Given the description of an element on the screen output the (x, y) to click on. 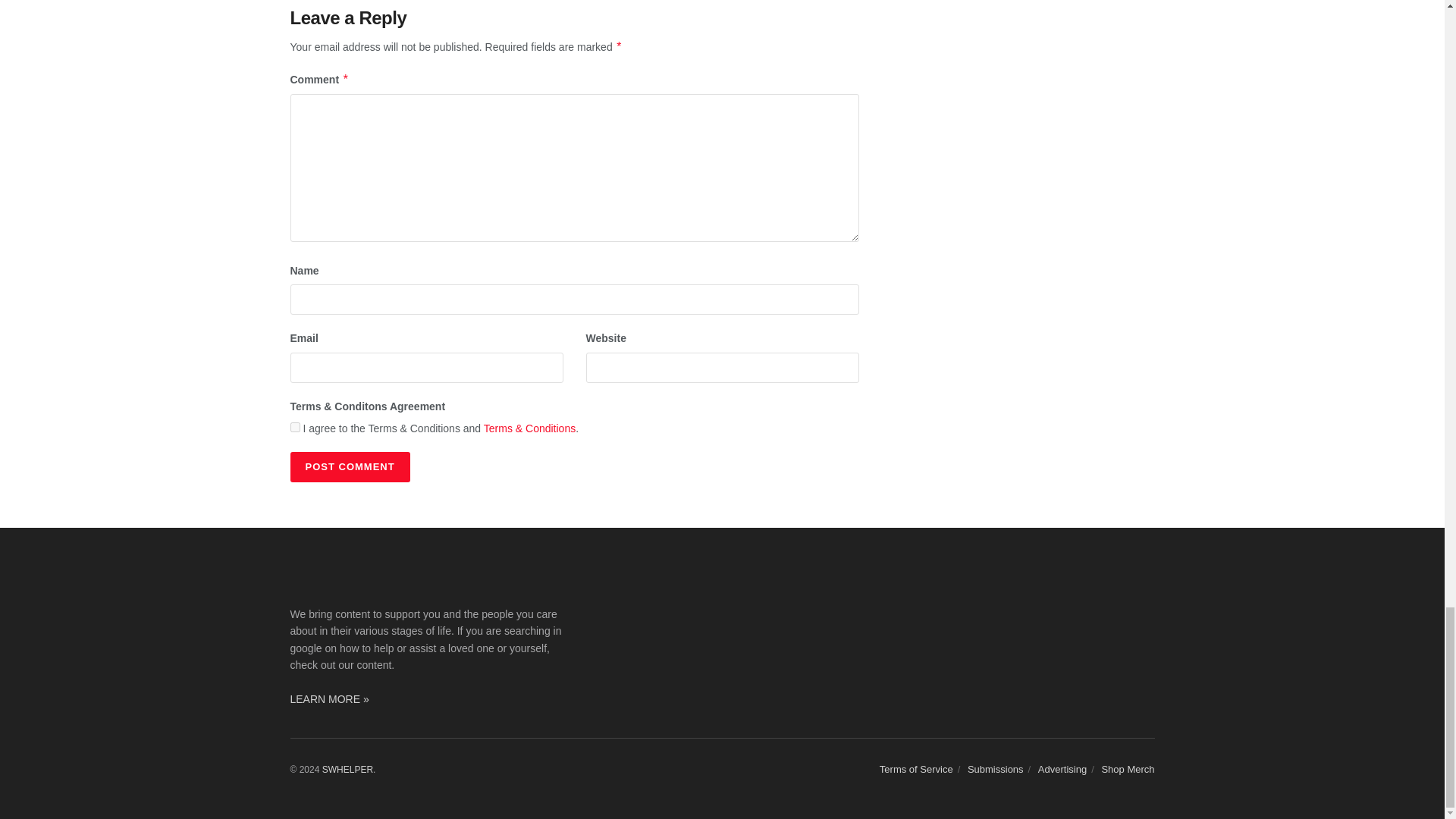
Post Comment (349, 467)
on (294, 427)
SWHELPER (346, 769)
